Given the description of an element on the screen output the (x, y) to click on. 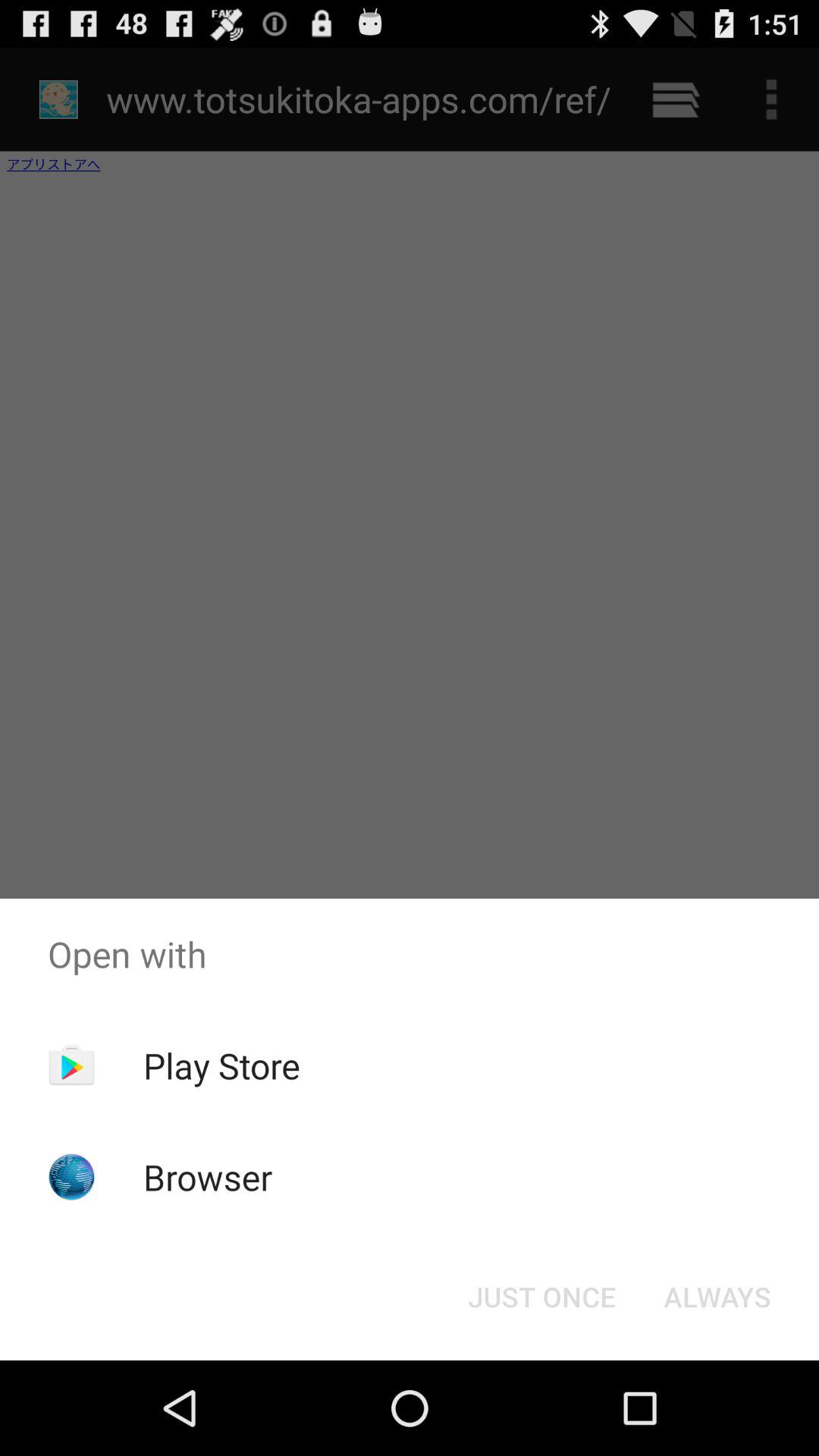
click play store item (221, 1065)
